Given the description of an element on the screen output the (x, y) to click on. 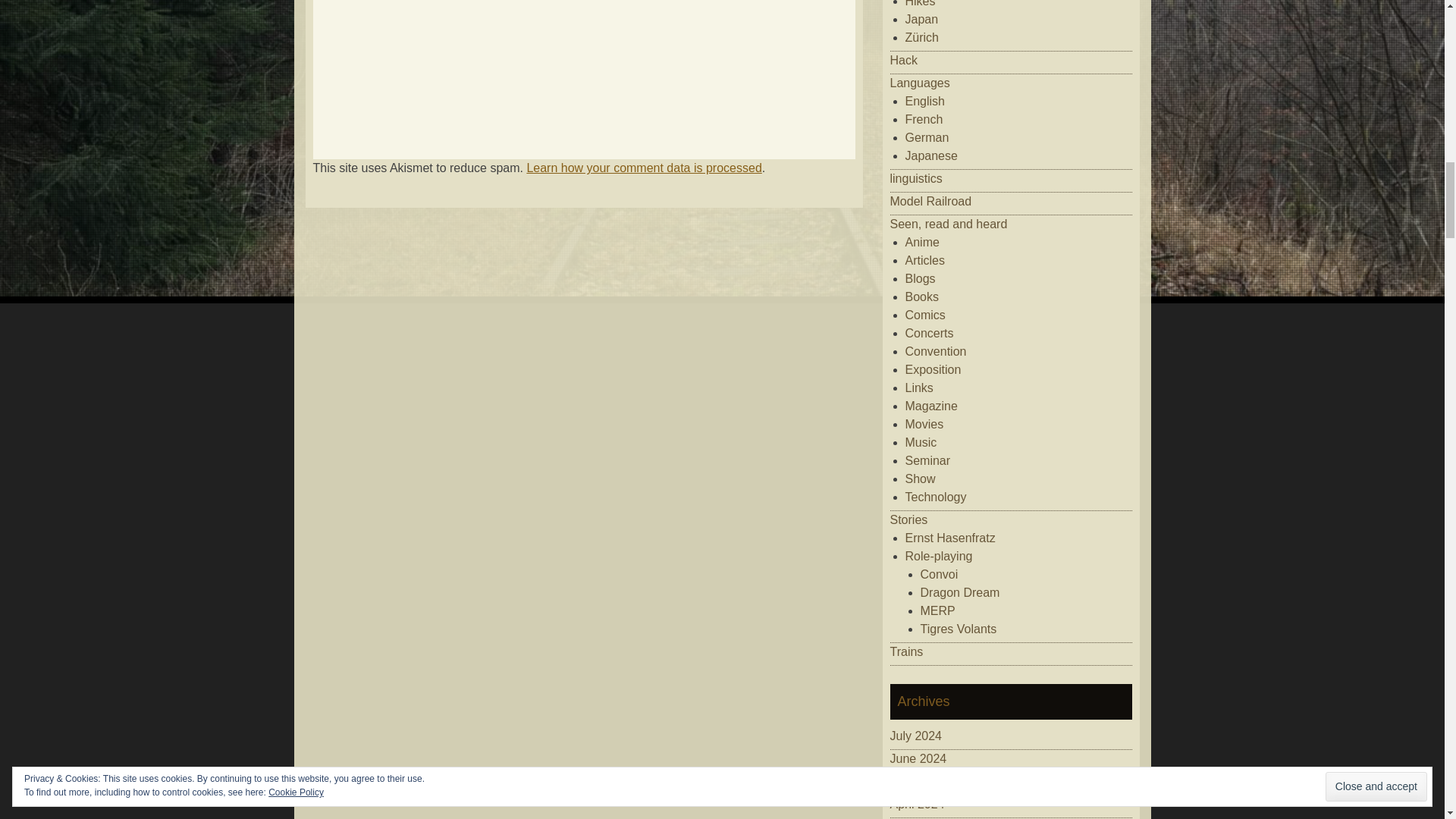
Comment Form (582, 65)
